Given the description of an element on the screen output the (x, y) to click on. 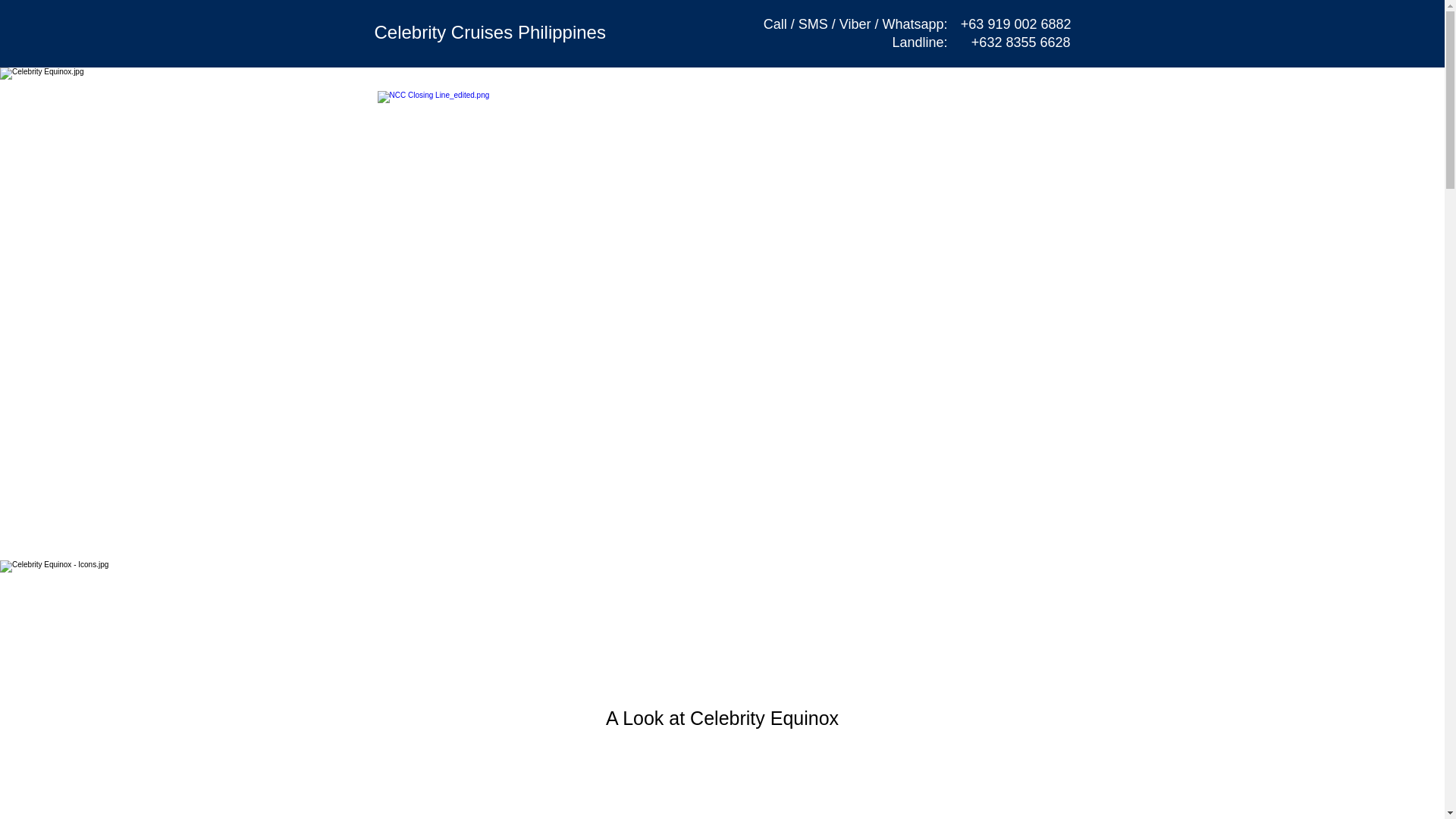
Celebrity Cruises Philippines (489, 32)
SHIPS (812, 113)
HOME (553, 113)
FIND A CRUISE (608, 120)
MICE (868, 113)
CONTACT US (1024, 113)
DESTINATIONS (727, 120)
ABOUT US (935, 113)
